Given the description of an element on the screen output the (x, y) to click on. 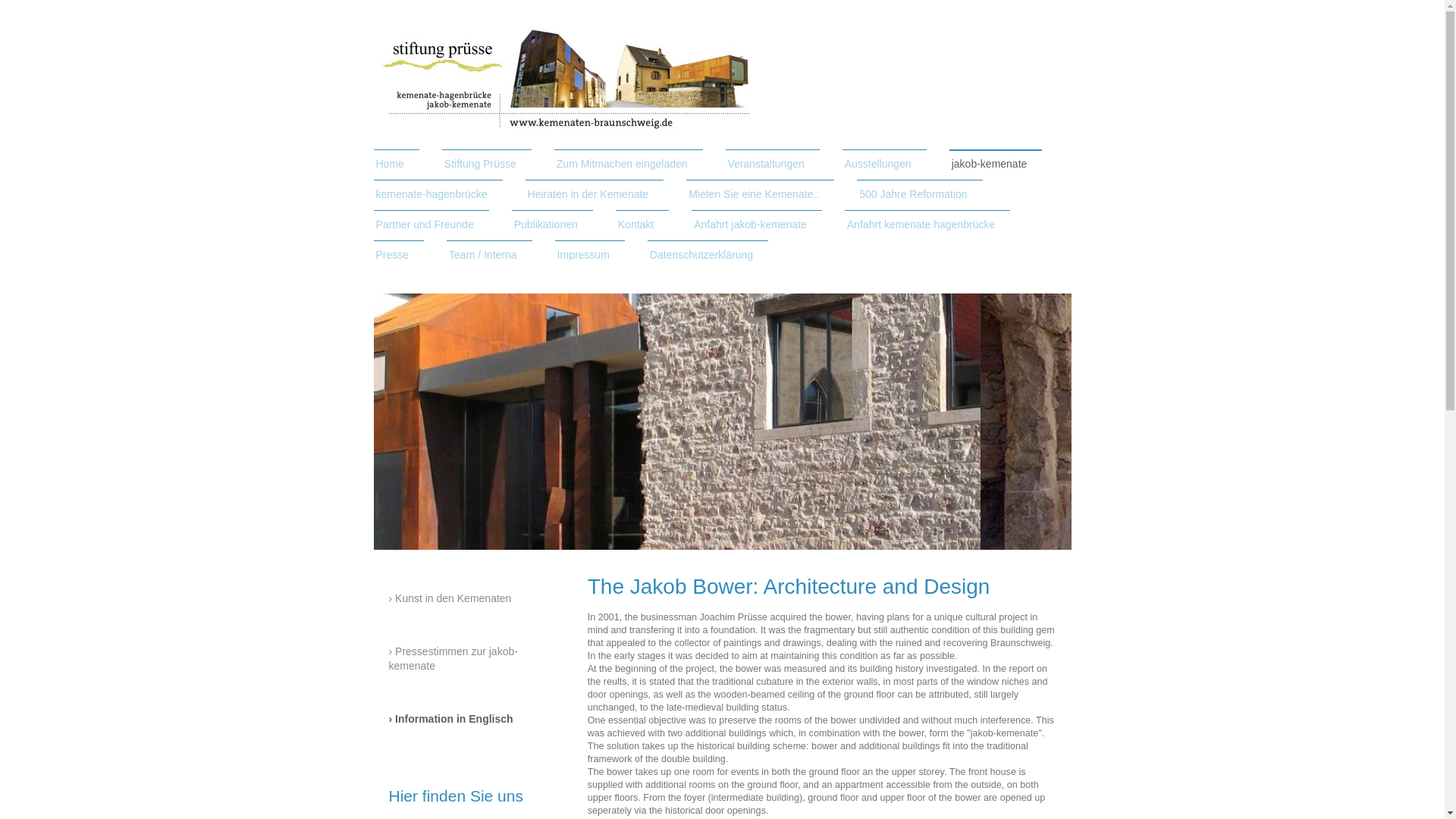
Veranstaltungen (772, 164)
Home (395, 164)
Ausstellungen (884, 164)
Zum Mitmachen eingeladen (628, 164)
Heiraten in der Kemenate (594, 194)
jakob-kemenate (995, 164)
